Given the description of an element on the screen output the (x, y) to click on. 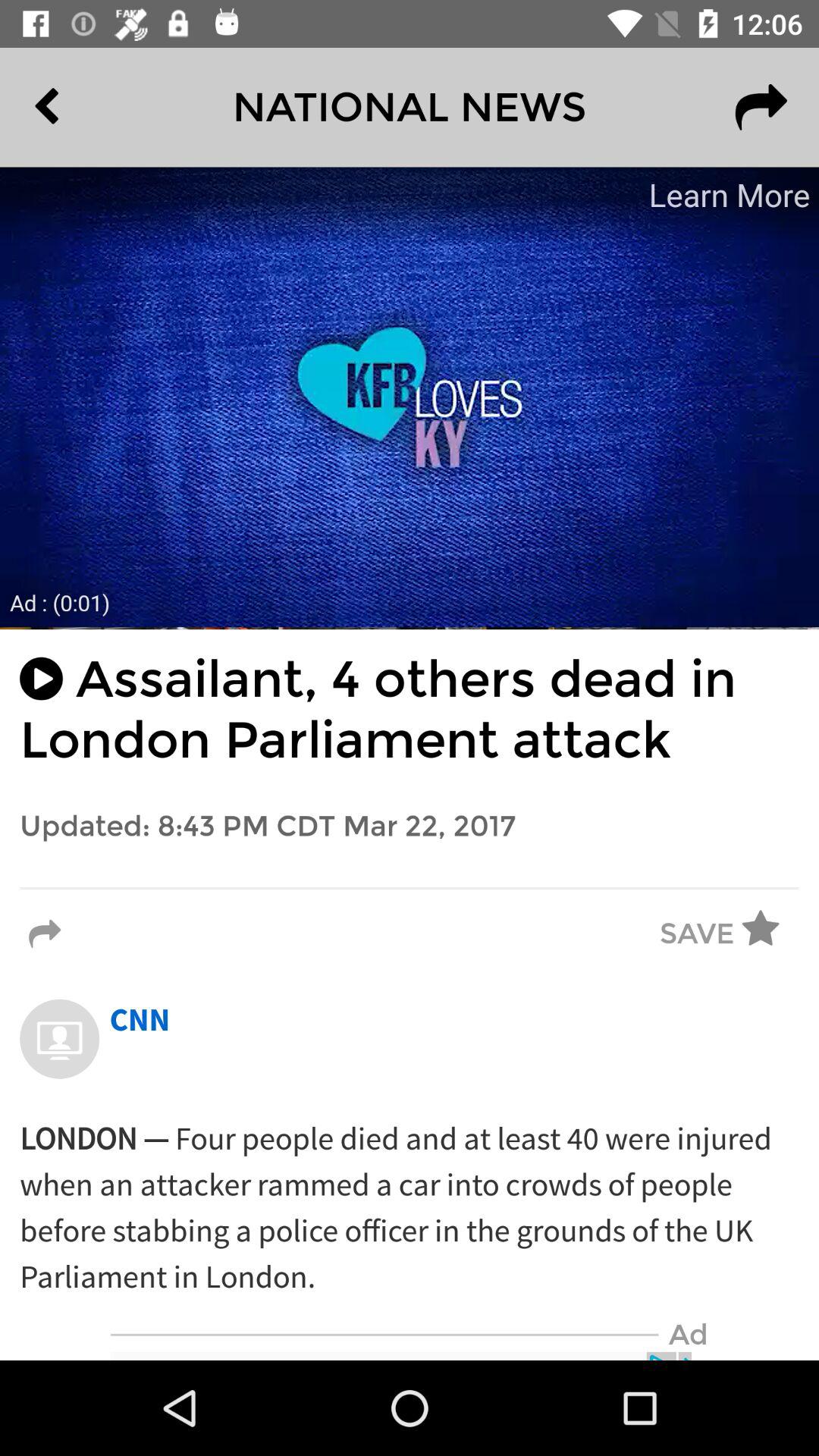
press the cnn item (139, 1021)
